Given the description of an element on the screen output the (x, y) to click on. 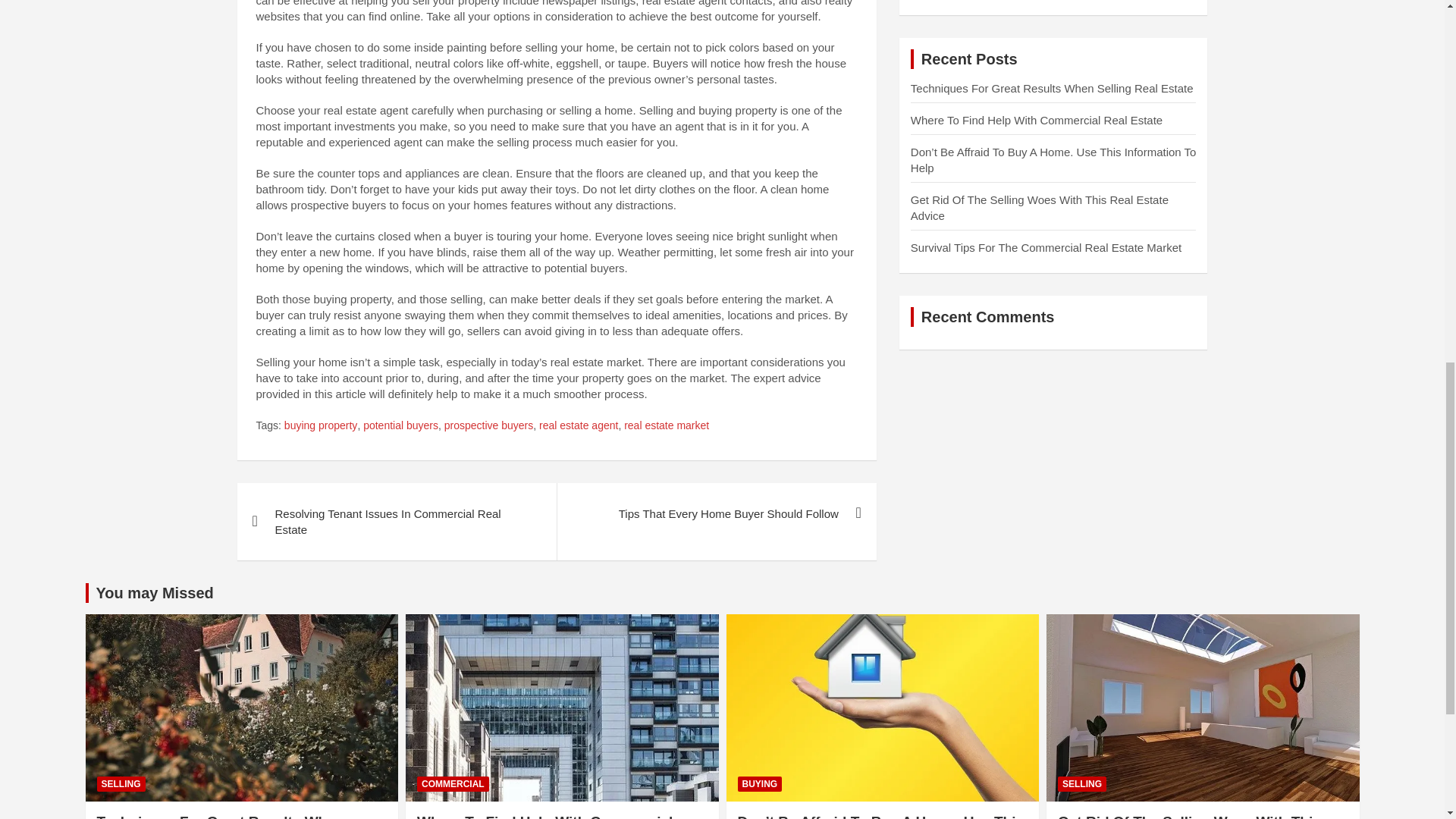
buying property (320, 426)
Resolving Tenant Issues In Commercial Real Estate (395, 521)
real estate agent (577, 426)
Techniques For Great Results When Selling Real Estate (220, 816)
COMMERCIAL (452, 784)
Tips That Every Home Buyer Should Follow (716, 513)
Survival Tips For The Commercial Real Estate Market (1045, 246)
Where To Find Help With Commercial Real Estate (544, 816)
prospective buyers (489, 426)
BUYING (758, 784)
